Given the description of an element on the screen output the (x, y) to click on. 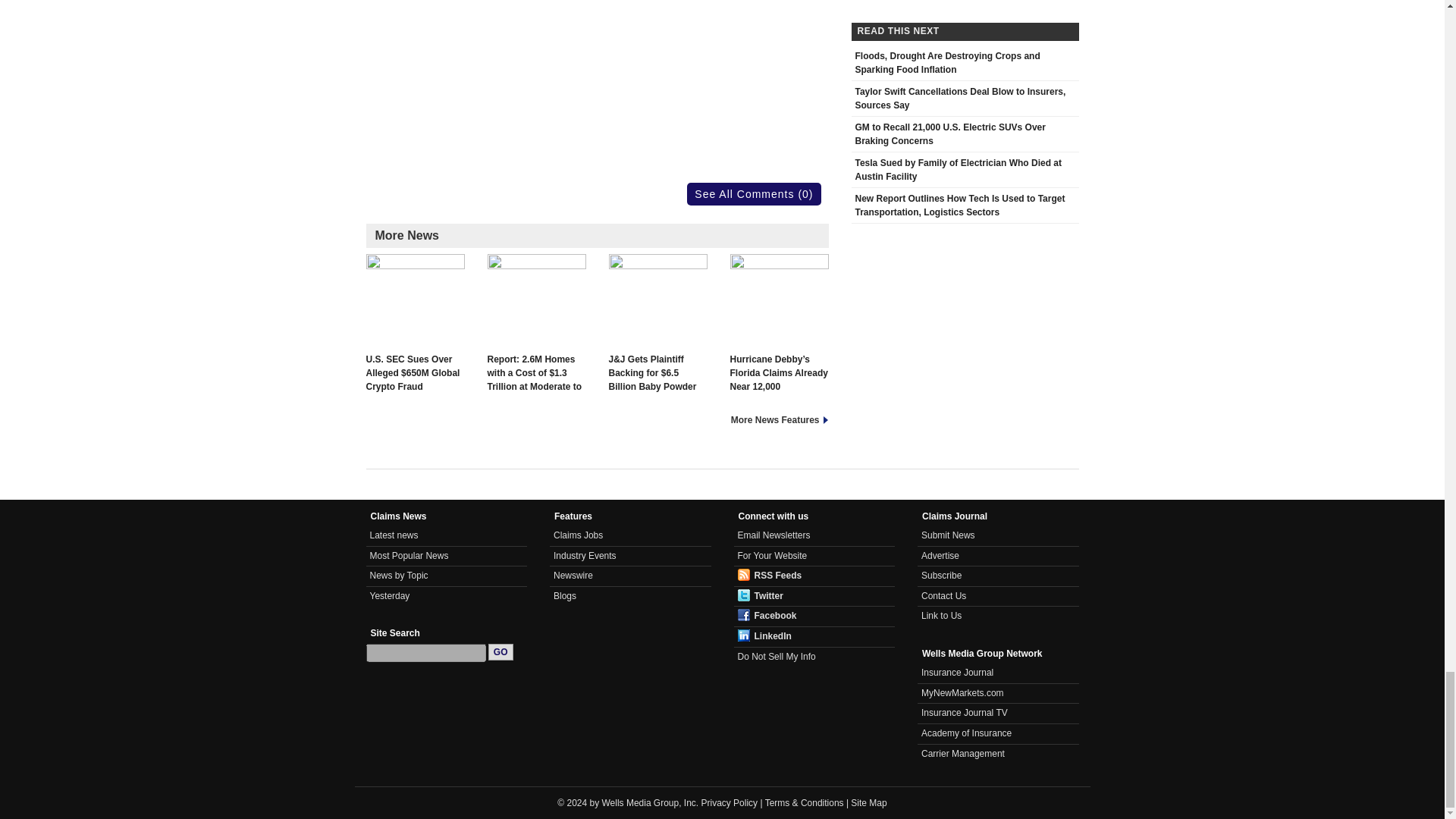
Insurance News by Topic (398, 575)
Insurance Market Search Engine (962, 692)
Go (500, 651)
